Given the description of an element on the screen output the (x, y) to click on. 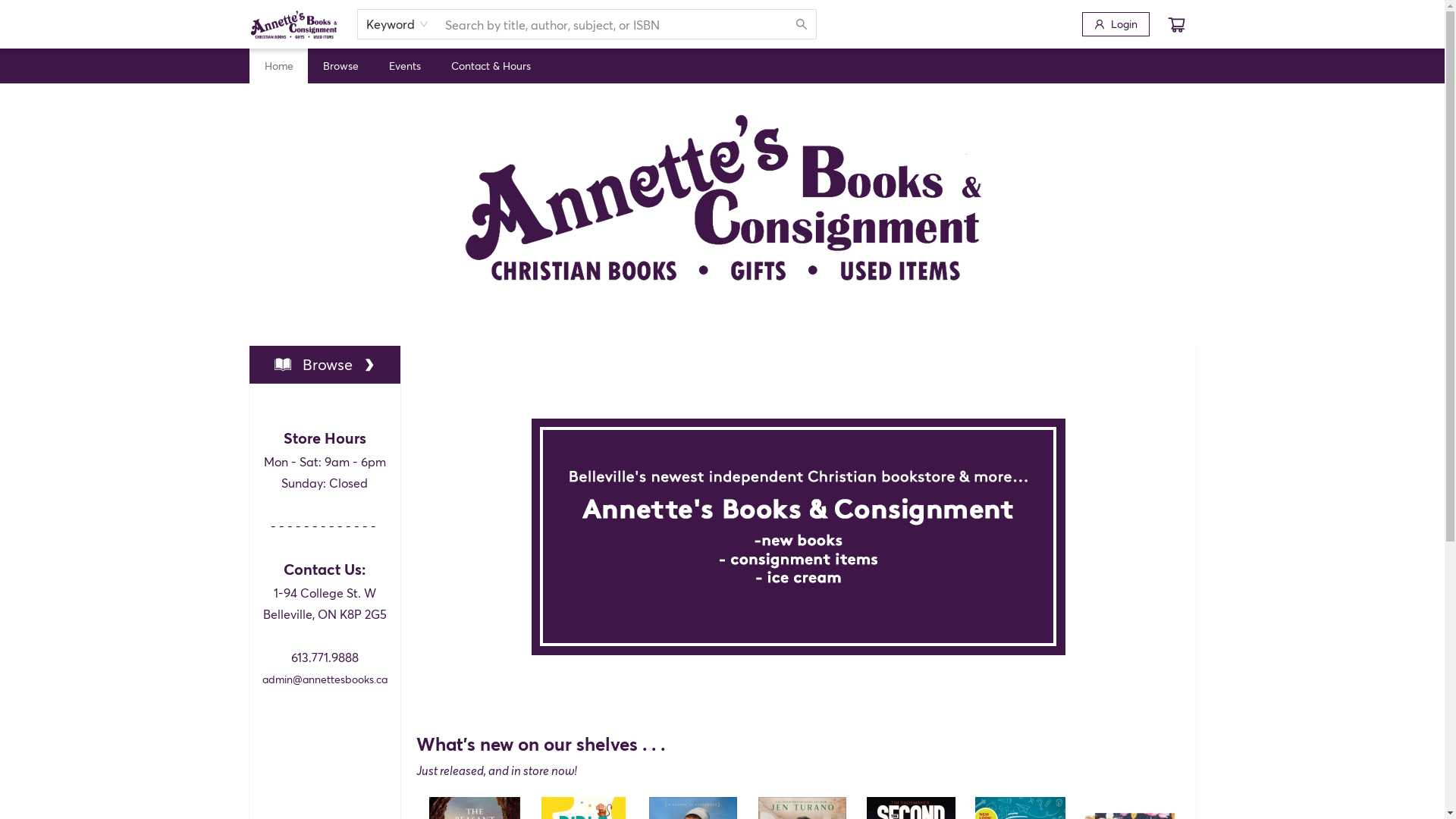
  Browse   Element type: text (324, 364)
Home Element type: text (277, 65)
Login Element type: text (1114, 24)
Browse Element type: text (340, 65)
Events Element type: text (404, 65)
Contact & Hours Element type: text (490, 65)
